Given the description of an element on the screen output the (x, y) to click on. 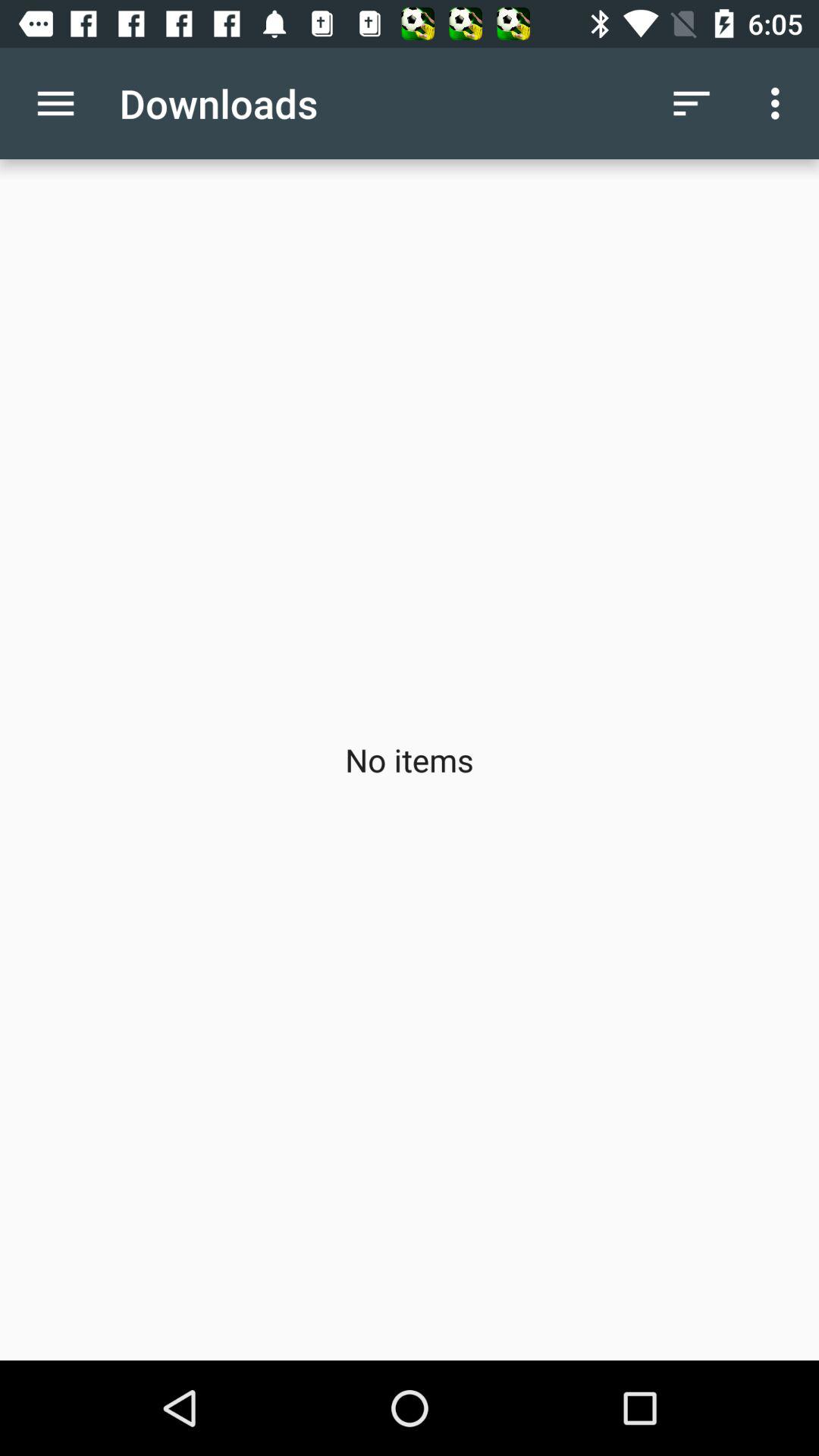
press the item above no items icon (55, 103)
